Given the description of an element on the screen output the (x, y) to click on. 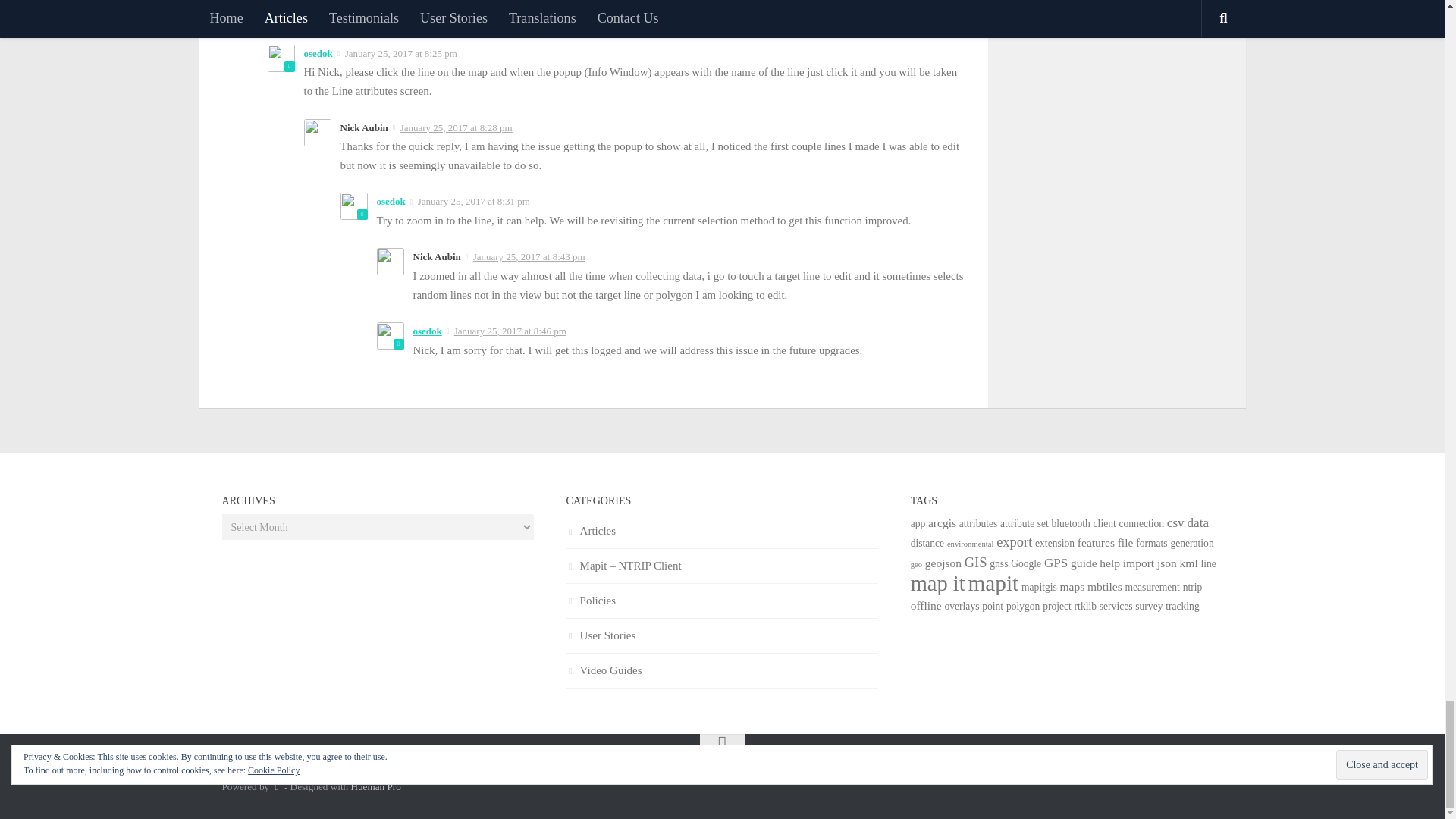
Hueman Pro (375, 786)
Follow us on Google (1212, 774)
Follow us on Facebook (1157, 774)
Powered by WordPress (275, 786)
Follow us on Twitter (1184, 774)
